Given the description of an element on the screen output the (x, y) to click on. 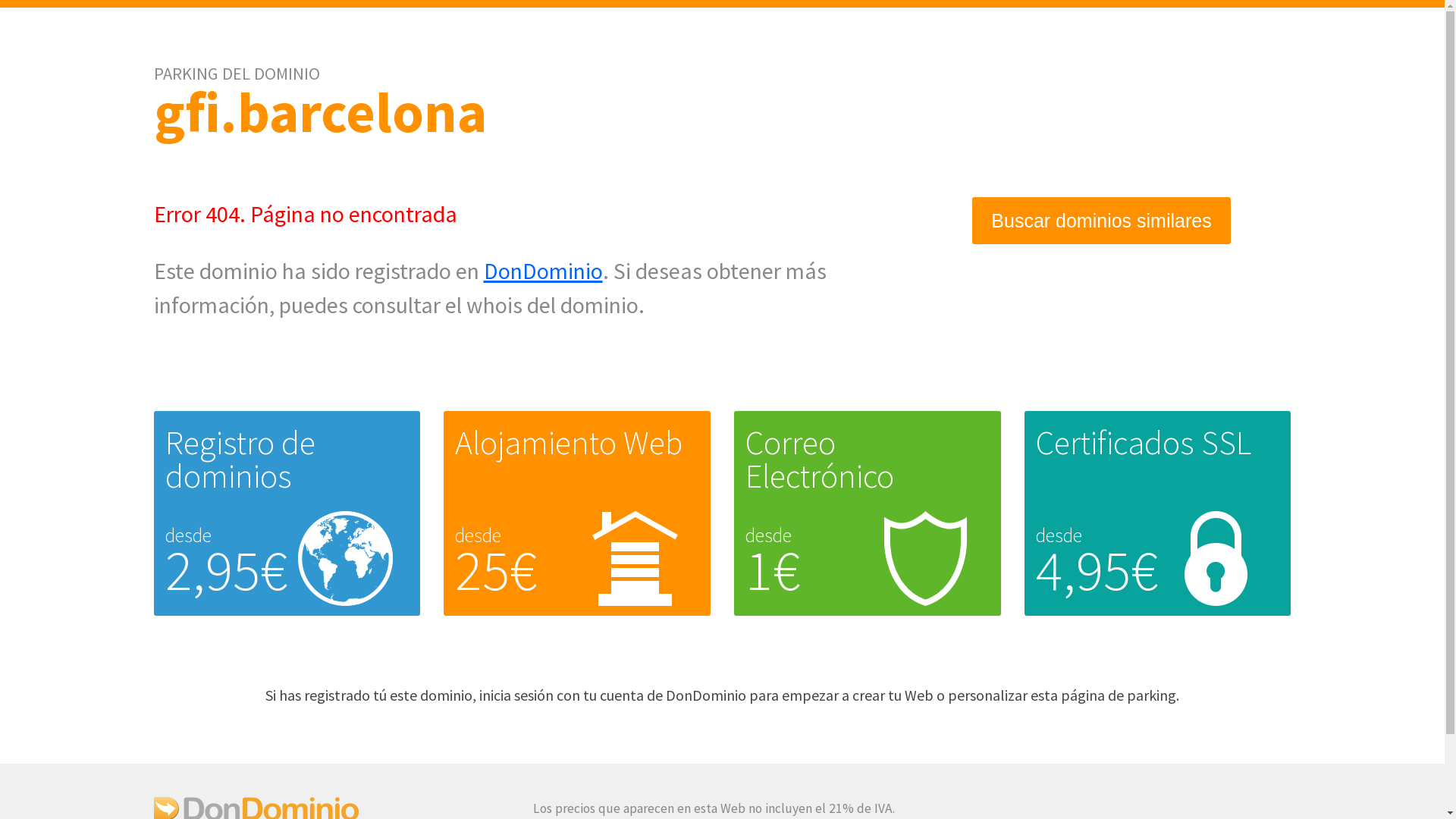
Buscar dominios similares Element type: text (1101, 220)
Alojamiento Web Element type: text (568, 442)
Registro de dominios Element type: text (240, 458)
DonDominio Element type: text (542, 270)
Certificados SSL Element type: text (1143, 442)
